Given the description of an element on the screen output the (x, y) to click on. 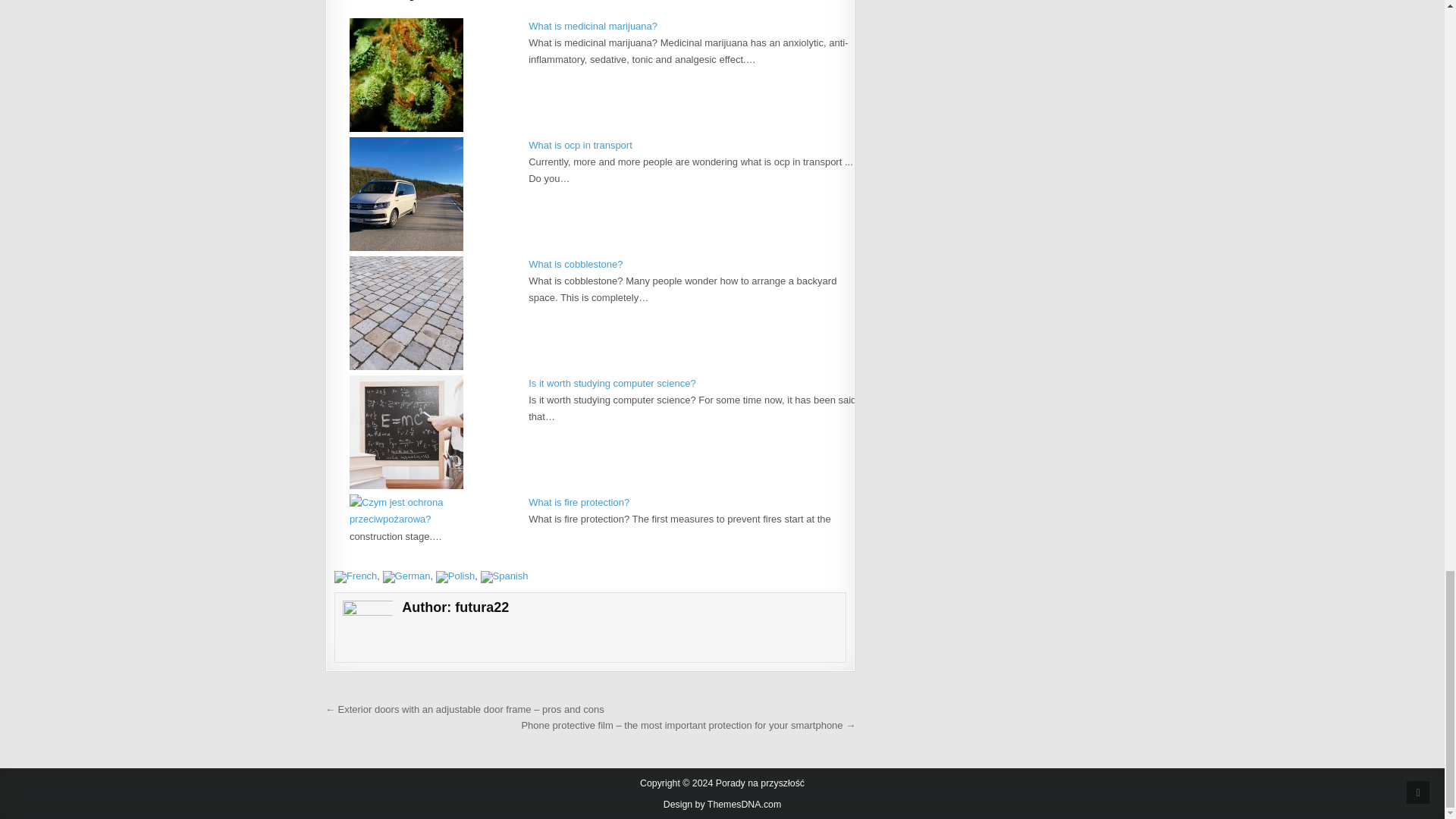
What is ocp in transport (579, 144)
What is fire protection? (578, 501)
What is medicinal marijuana? (593, 25)
What is cobblestone? (575, 264)
Is it worth studying computer science? (611, 383)
